Given the description of an element on the screen output the (x, y) to click on. 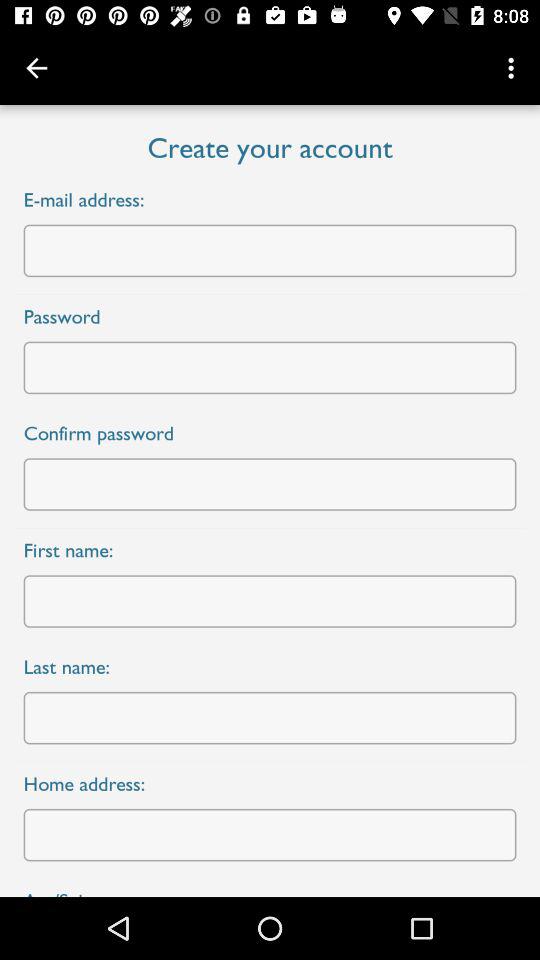
click on the text field below the text password (269, 367)
select the text box which is below confirm password (269, 483)
select a text field which is below email address on the page (269, 250)
select the first name field (269, 601)
